Given the description of an element on the screen output the (x, y) to click on. 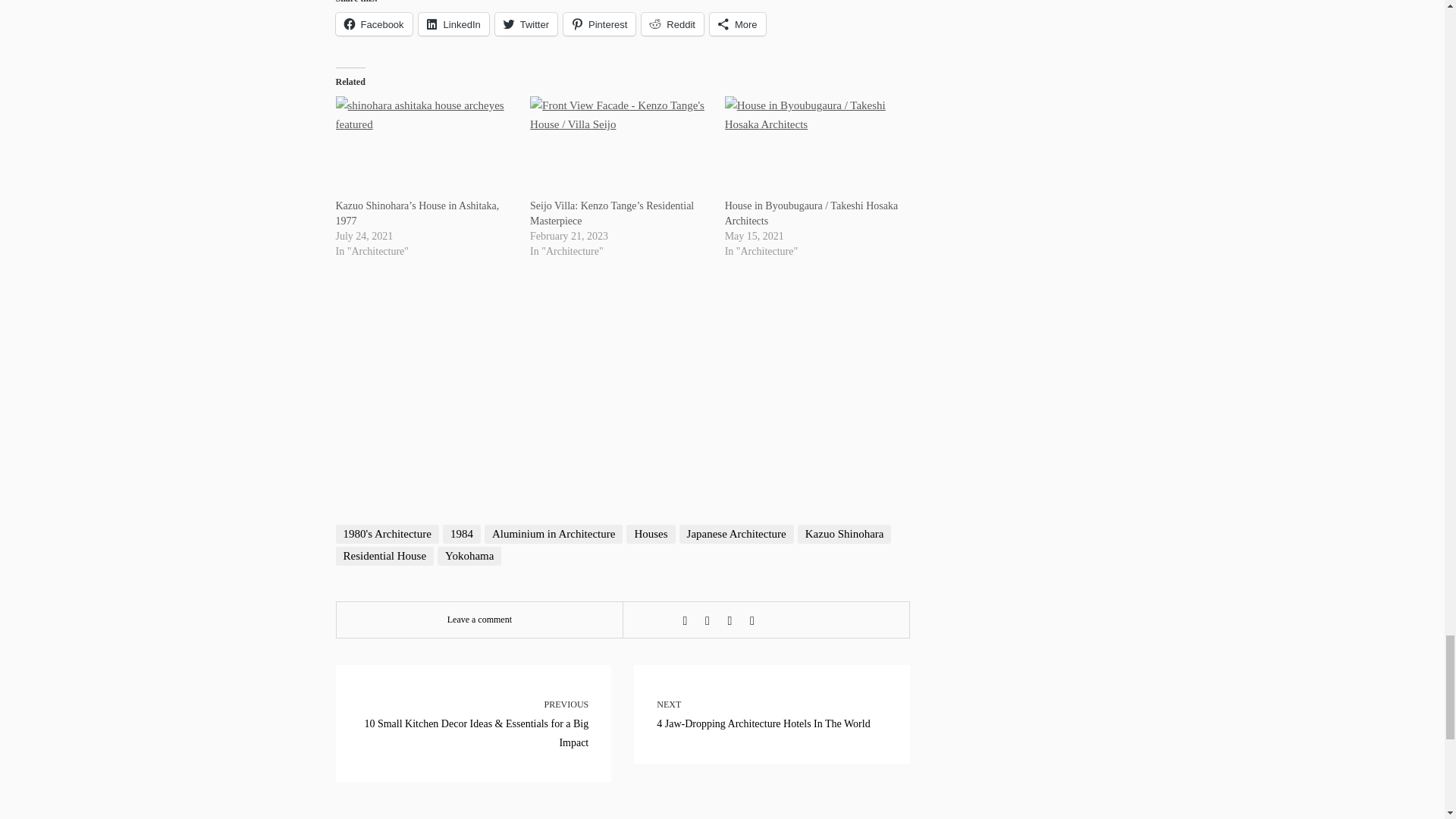
Click to share on Pinterest (598, 24)
Click to share on Reddit (672, 24)
Click to share on Facebook (373, 24)
Click to share on Twitter (526, 24)
Click to share on LinkedIn (454, 24)
